Given the description of an element on the screen output the (x, y) to click on. 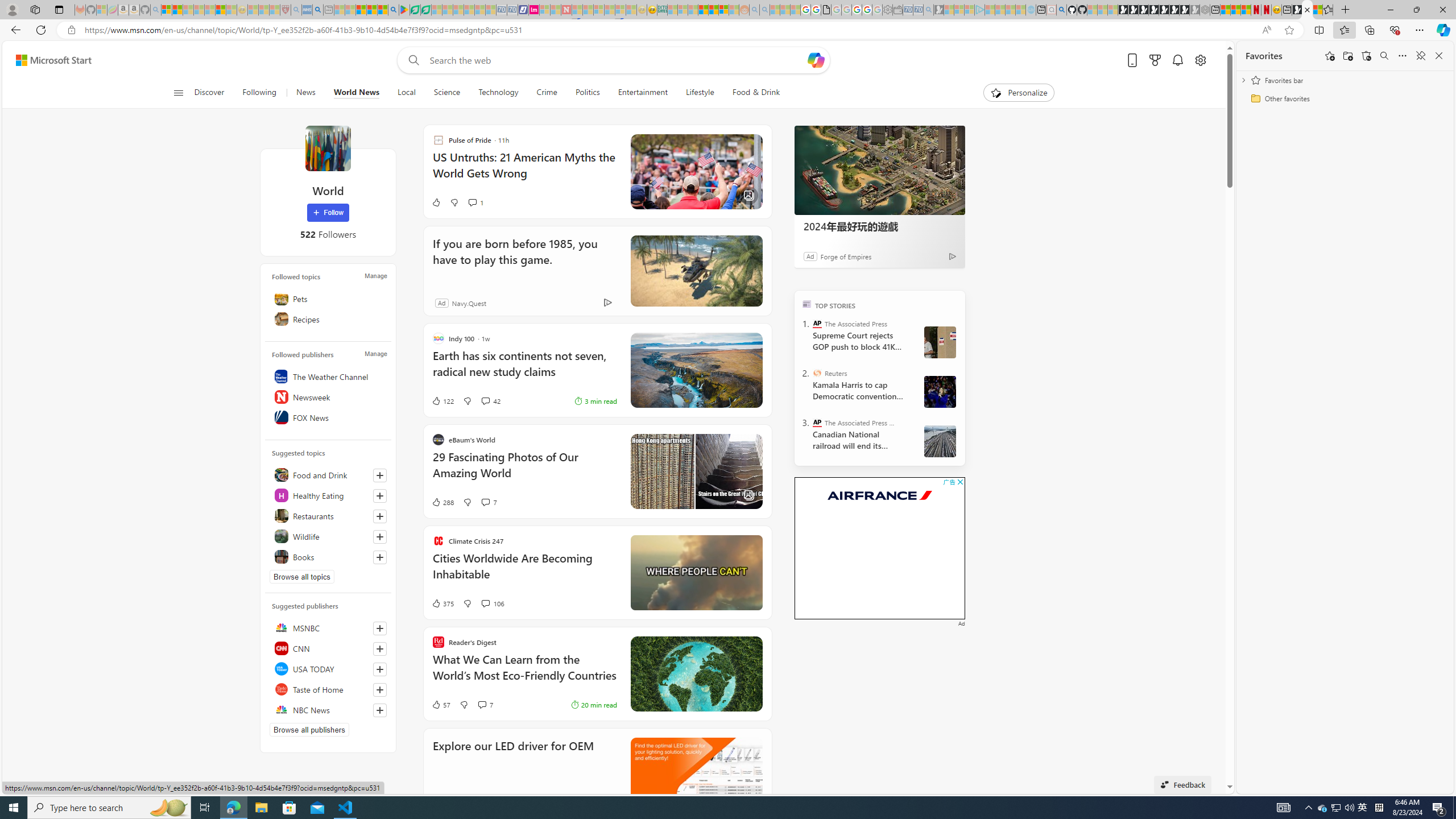
Forge of Empires (845, 256)
Crime (546, 92)
MSNBC (327, 627)
TOP (806, 302)
View comments 7 Comment (481, 704)
Latest Politics News & Archive | Newsweek.com - Sleeping (566, 9)
Like (435, 202)
